Given the description of an element on the screen output the (x, y) to click on. 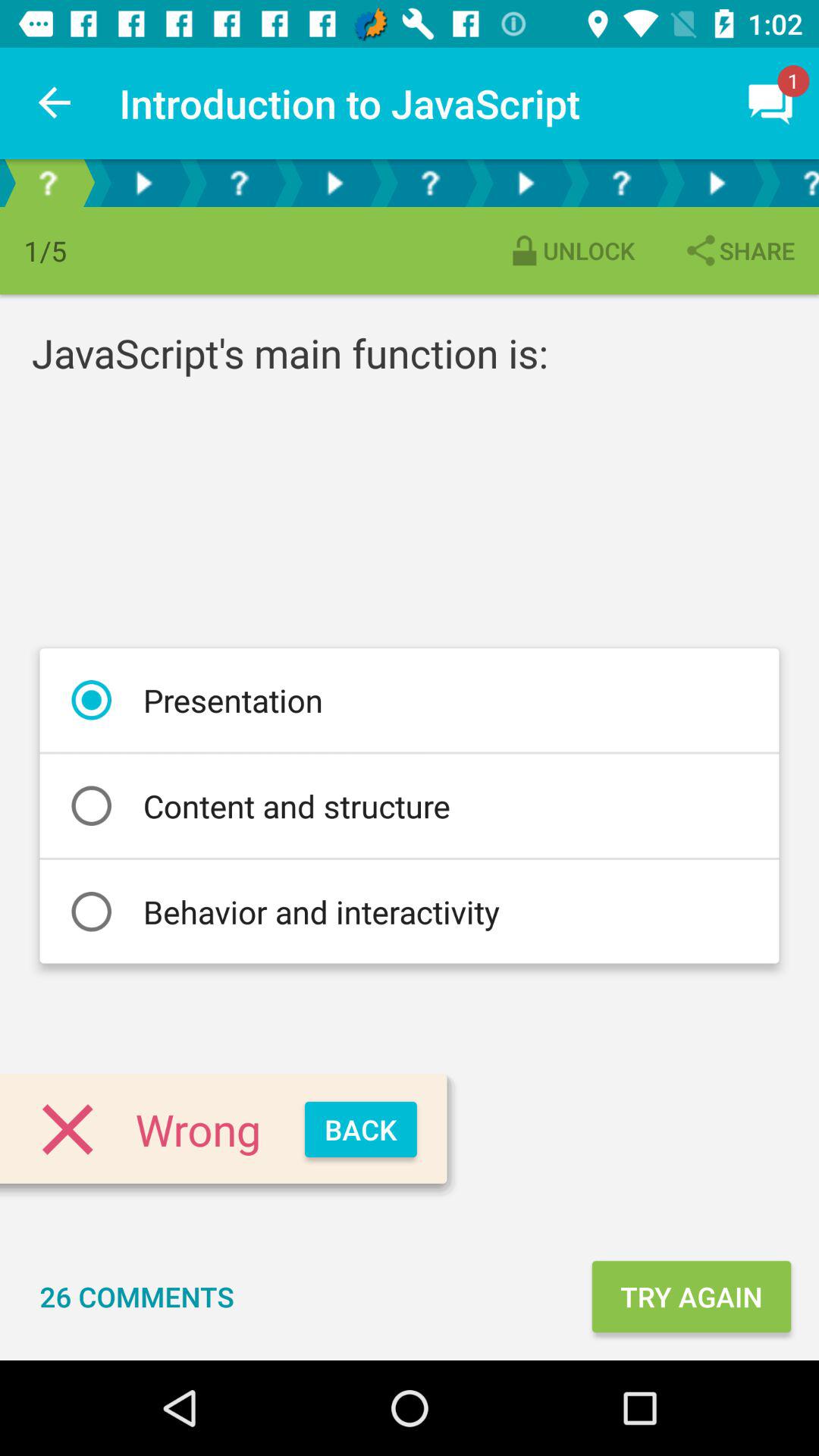
play file (525, 183)
